Given the description of an element on the screen output the (x, y) to click on. 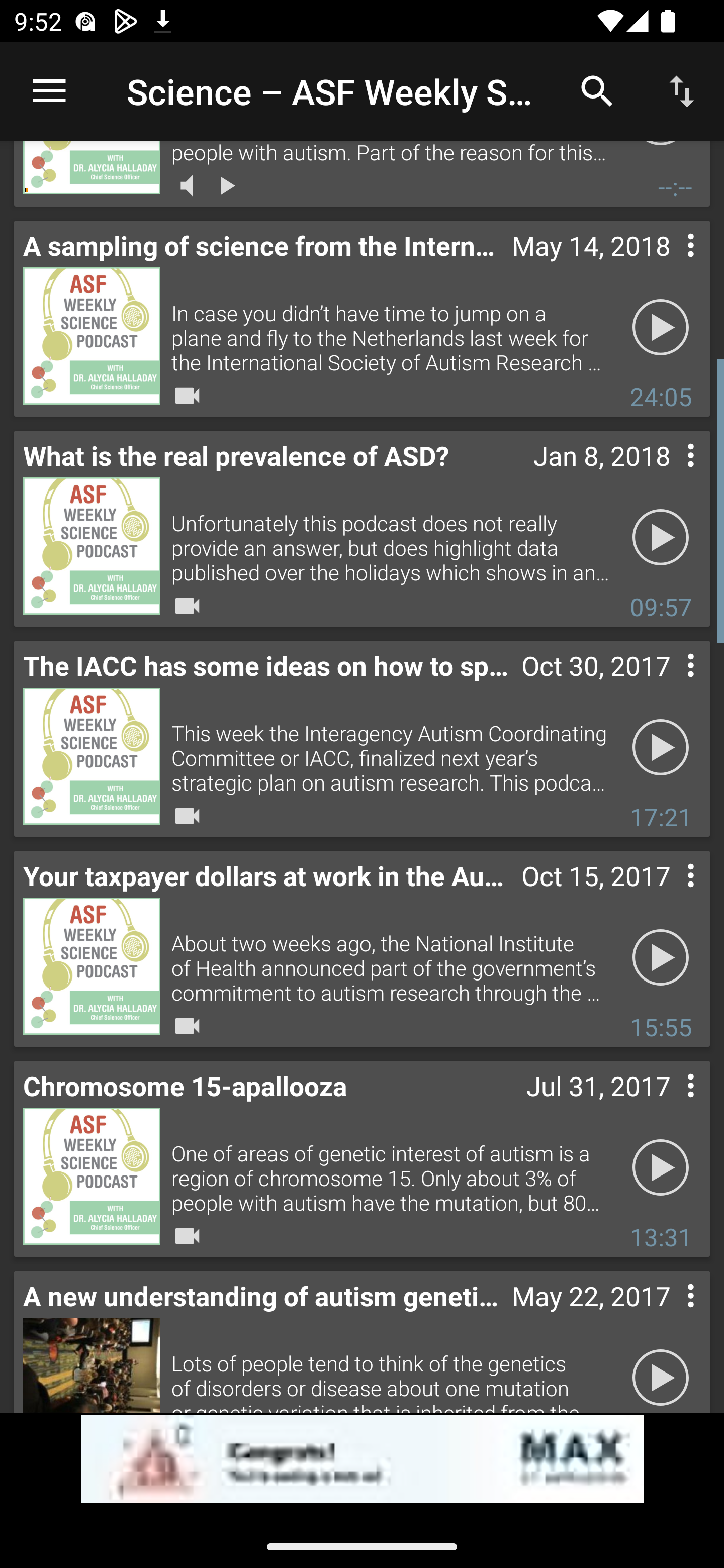
Open navigation sidebar (49, 91)
Search (597, 90)
Sort (681, 90)
Contextual menu (668, 265)
Play (660, 326)
Contextual menu (668, 475)
Play (660, 536)
Contextual menu (668, 685)
Play (660, 746)
Contextual menu (668, 895)
Play (660, 956)
Contextual menu (668, 1105)
Play (660, 1166)
Contextual menu (668, 1315)
Play (660, 1370)
app-monetization (362, 1459)
(i) (14, 1489)
